Given the description of an element on the screen output the (x, y) to click on. 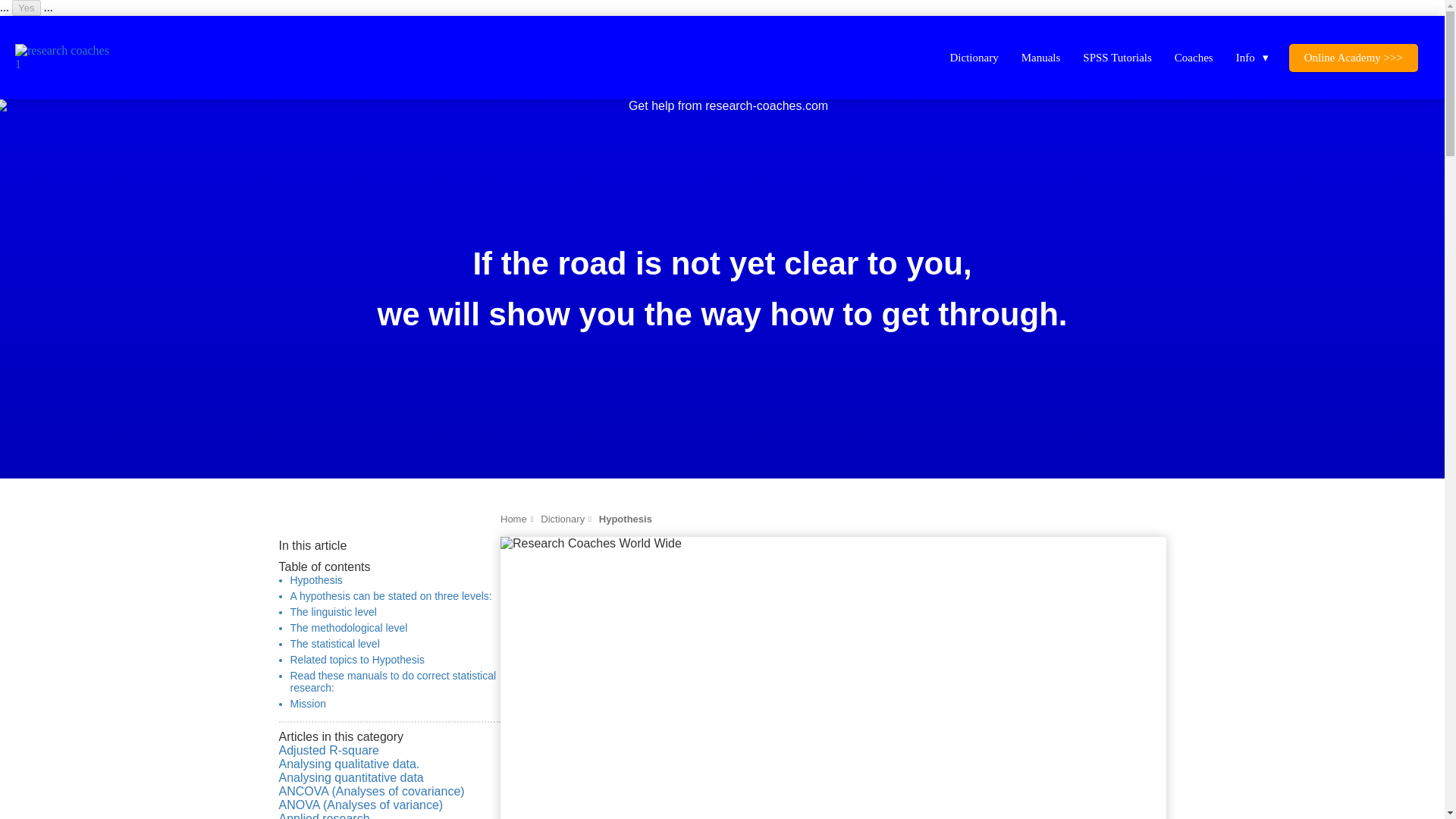
The methodological level (348, 627)
Yes (25, 7)
Mission (306, 703)
Analysing qualitative data. (389, 764)
Hypothesis (315, 580)
Hypothesis (625, 518)
SPSS Tutorials (1116, 56)
The linguistic level (332, 612)
Adjusted R-square (389, 750)
Related topics to Hypothesis (356, 659)
